Given the description of an element on the screen output the (x, y) to click on. 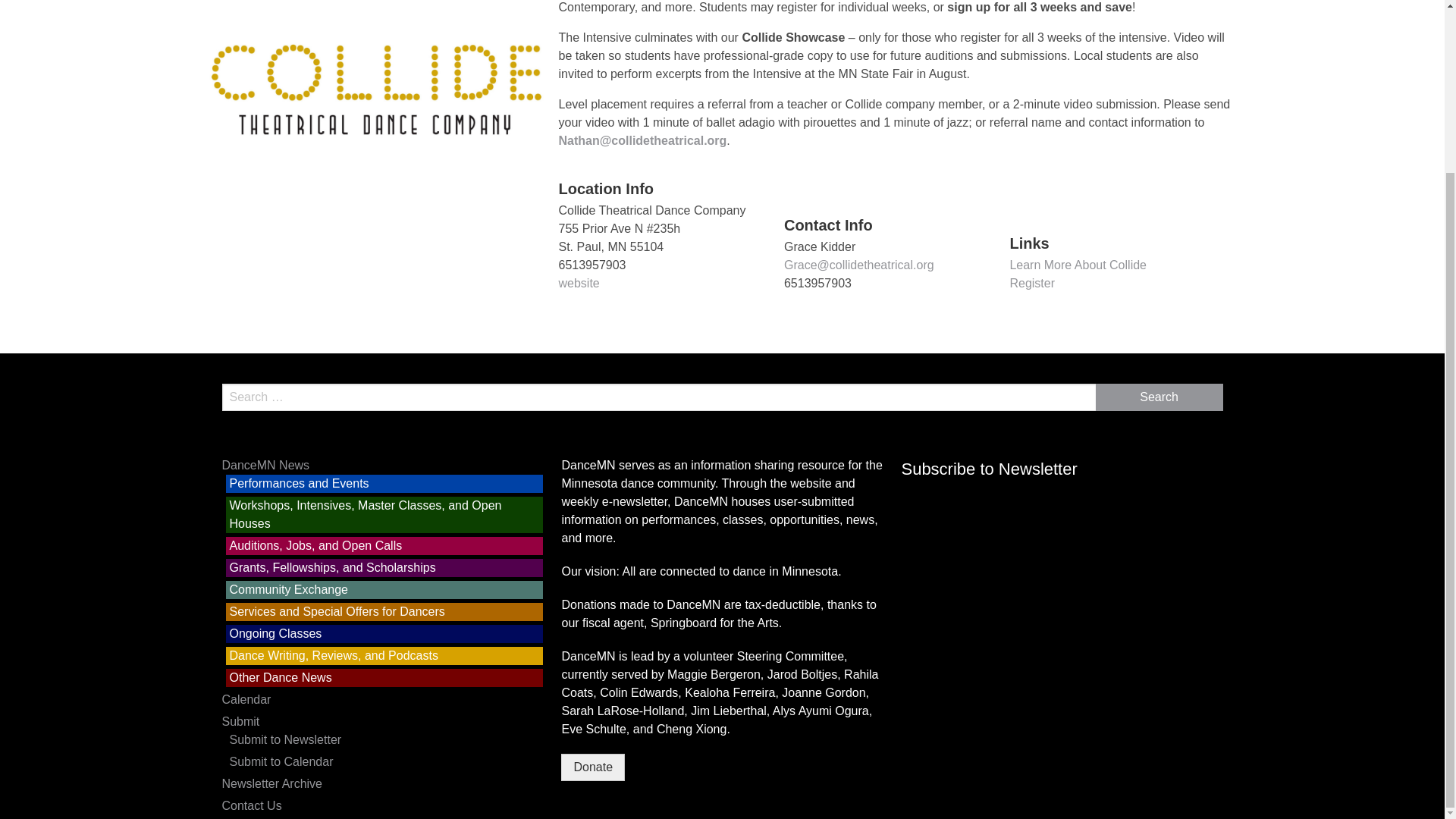
Search (1159, 397)
website (577, 282)
Search (1159, 397)
